Given the description of an element on the screen output the (x, y) to click on. 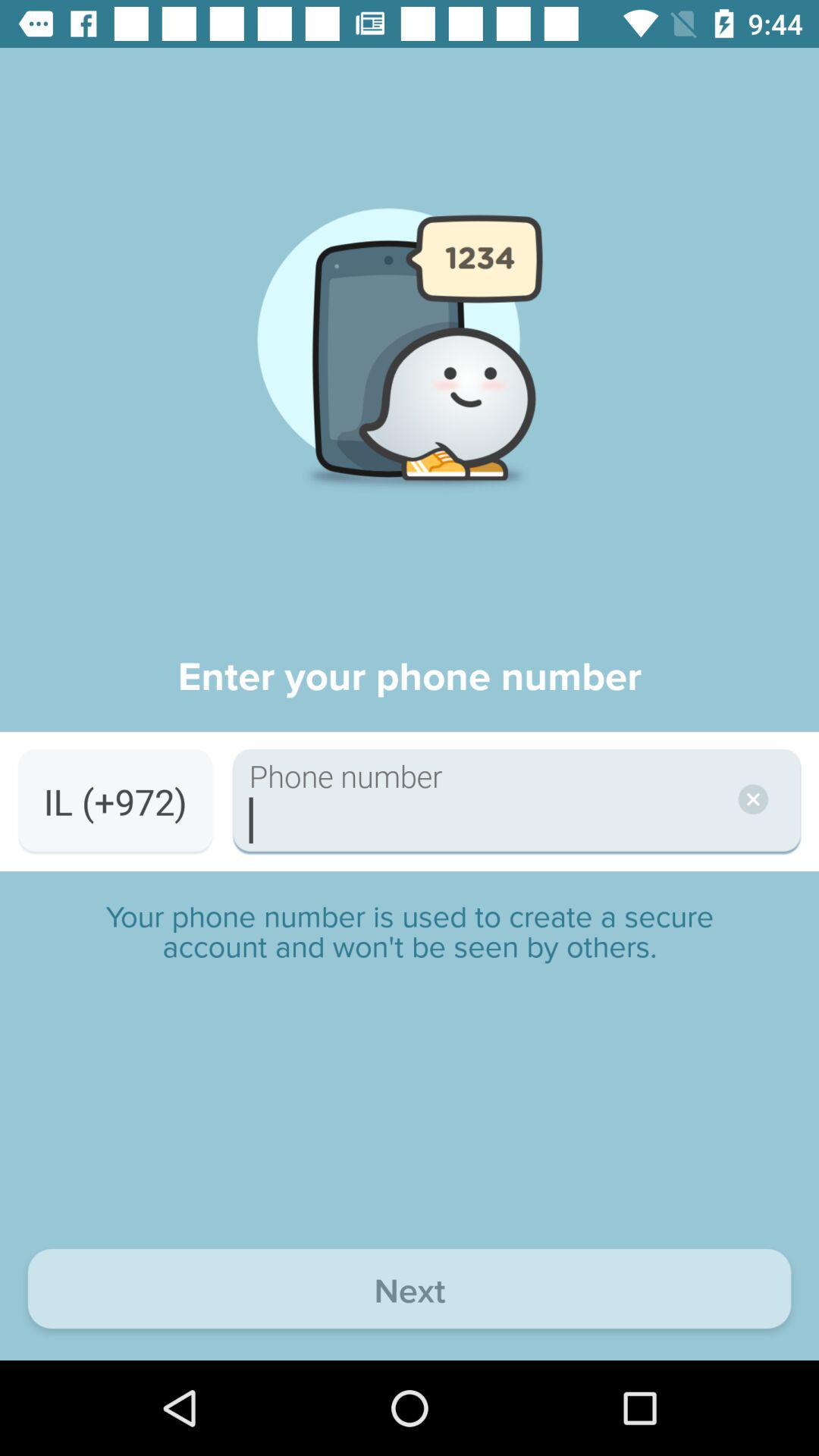
select icon above the your phone number (114, 801)
